Given the description of an element on the screen output the (x, y) to click on. 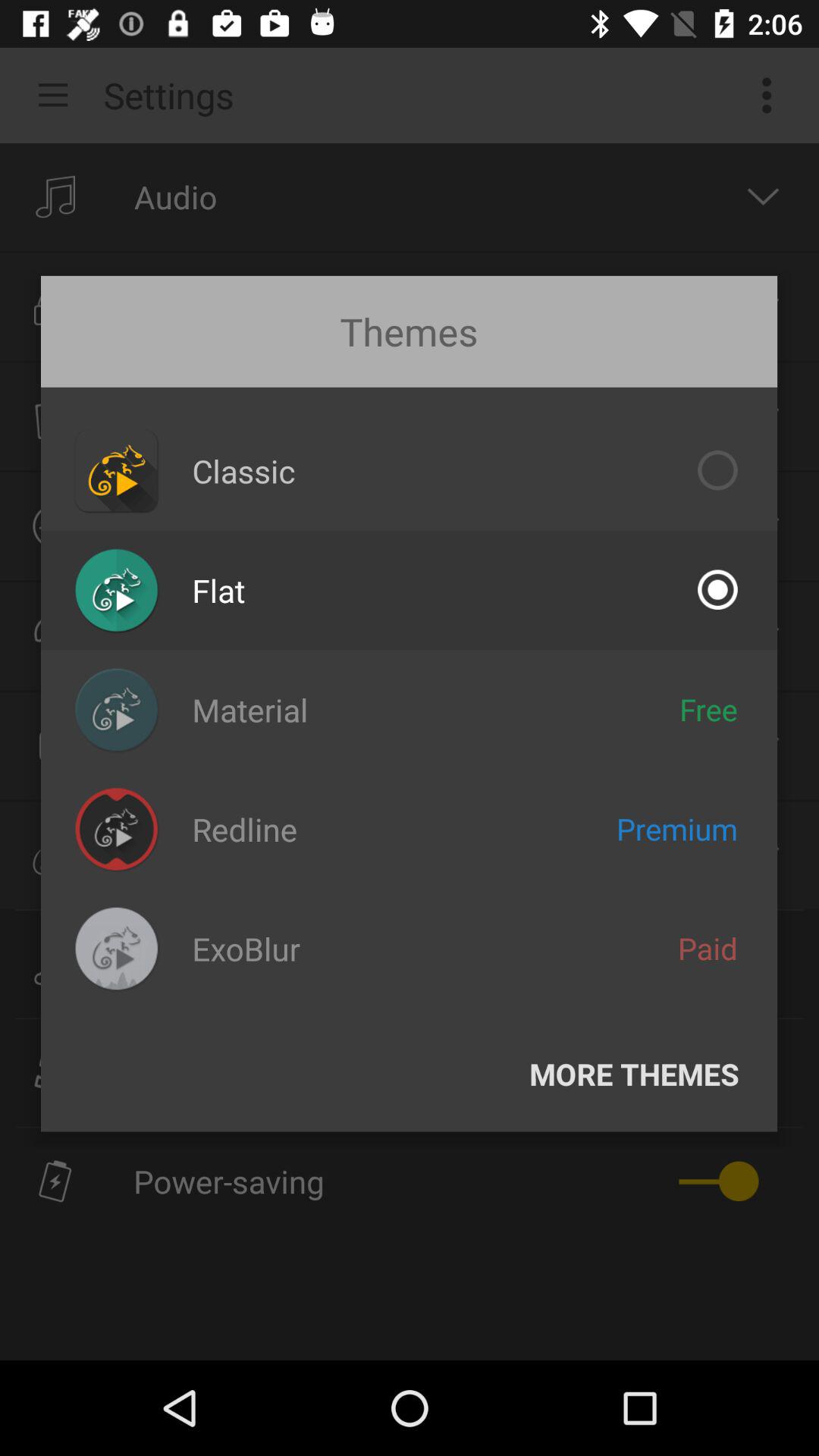
tap flat (218, 589)
